Given the description of an element on the screen output the (x, y) to click on. 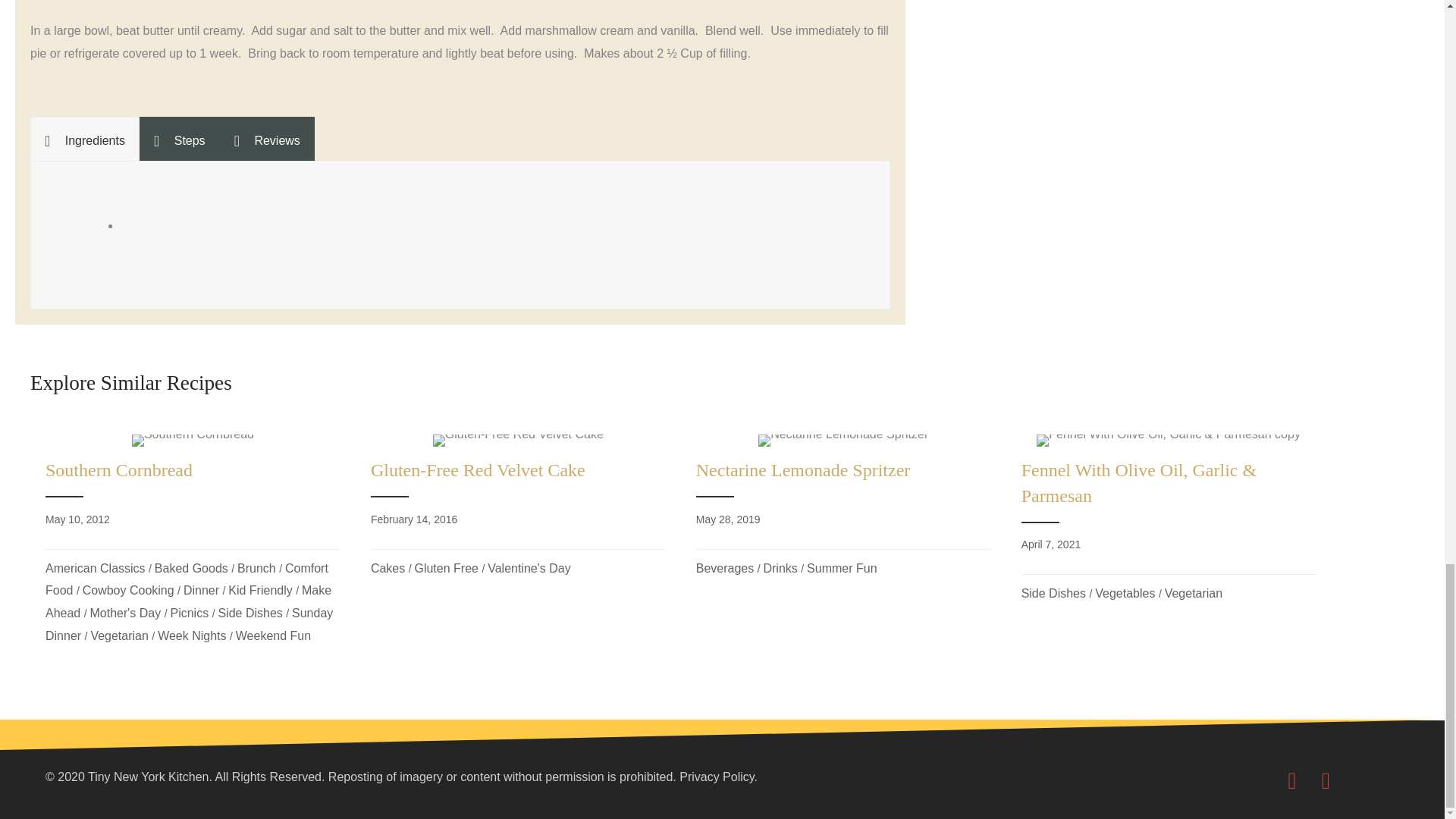
Facebook (1291, 780)
Southern Cornbread (192, 440)
Instagram (1325, 780)
Sunday Dinner (189, 624)
Southern Cornbread (192, 543)
Picnics (189, 612)
Nectarine Lemonade Spritzer (843, 440)
Nectarine Lemonade Spritzer (843, 510)
Kid Friendly (260, 590)
Comfort Food (187, 579)
